Given the description of an element on the screen output the (x, y) to click on. 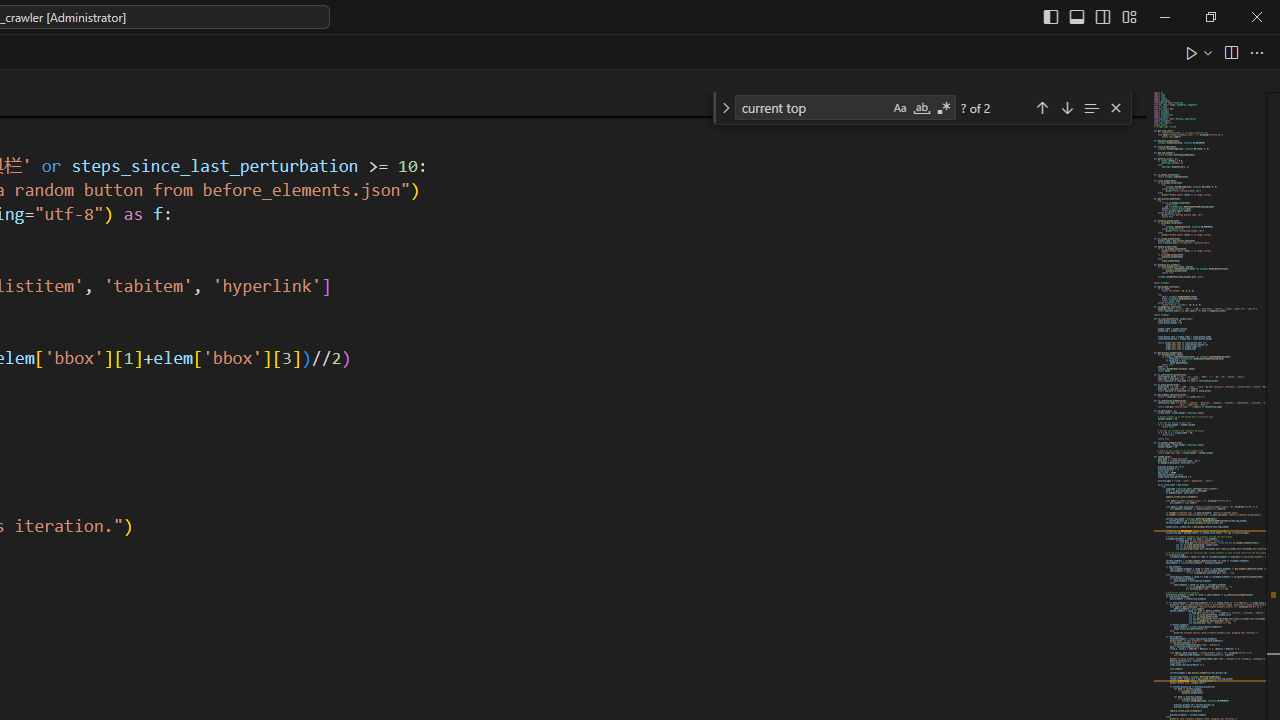
Find in Selection (Alt+L) (1091, 106)
Close (Escape) (1115, 107)
Run Python File (1192, 52)
Previous Match (Shift+Enter) (1041, 106)
Restore (1210, 16)
Toggle Panel (Ctrl+J) (1077, 16)
